Given the description of an element on the screen output the (x, y) to click on. 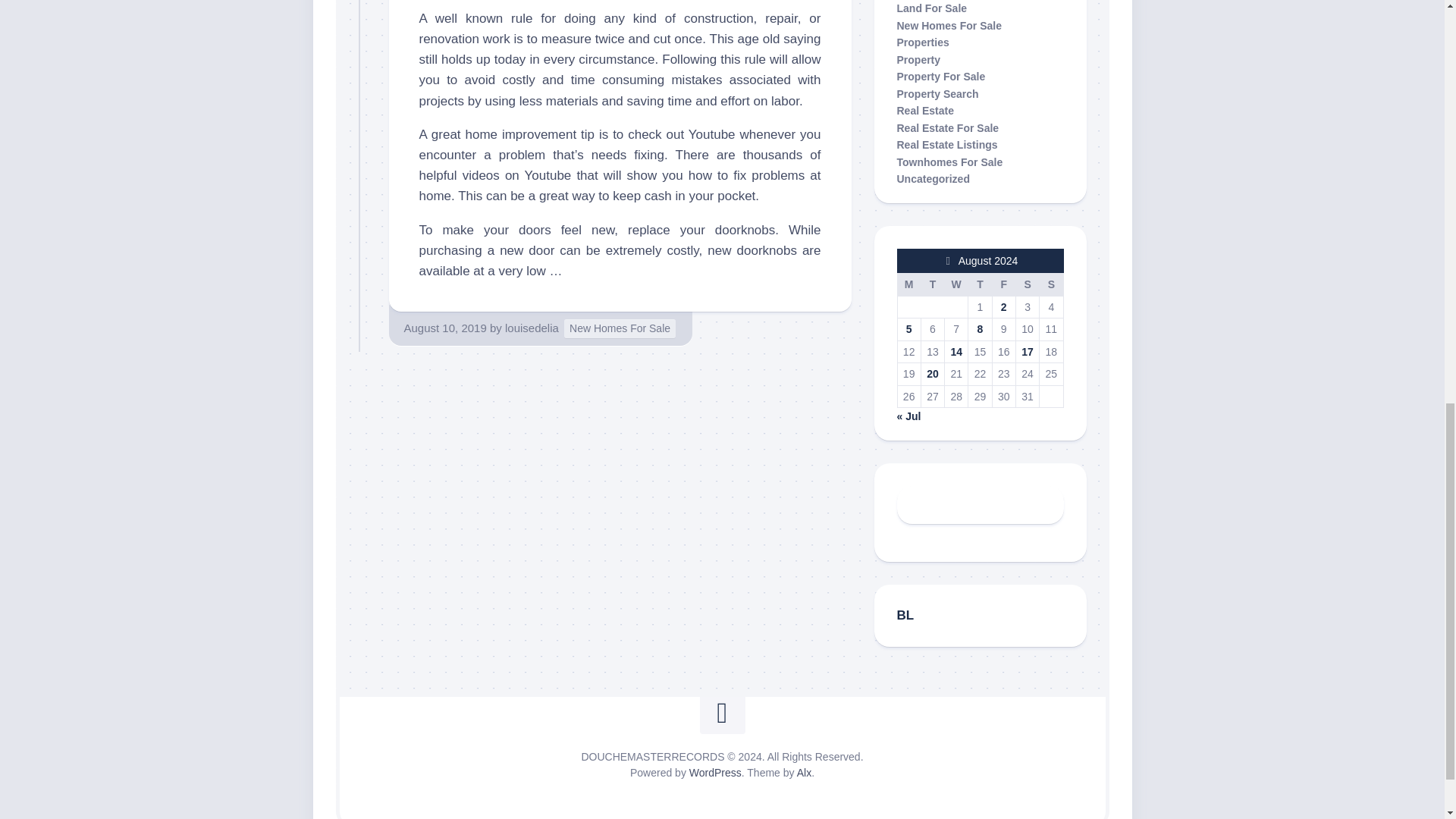
Property For Sale (940, 76)
Saturday (1026, 283)
Property Search (937, 93)
louisedelia (532, 327)
Real Estate Listings (946, 144)
Uncategorized (932, 178)
Property (918, 59)
Real Estate (924, 110)
Townhomes For Sale (949, 162)
Monday (908, 283)
